Given the description of an element on the screen output the (x, y) to click on. 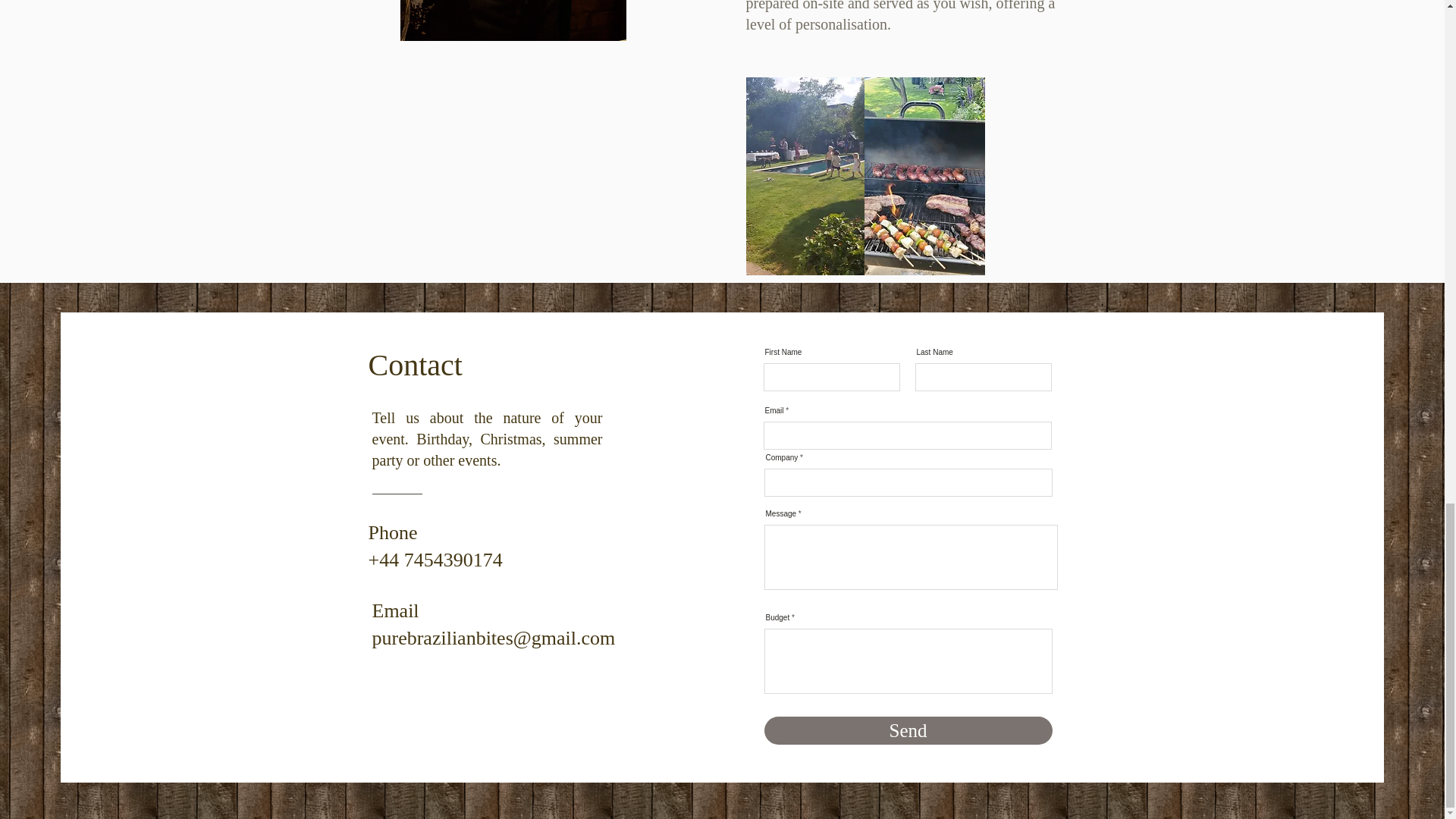
Send (908, 730)
